Given the description of an element on the screen output the (x, y) to click on. 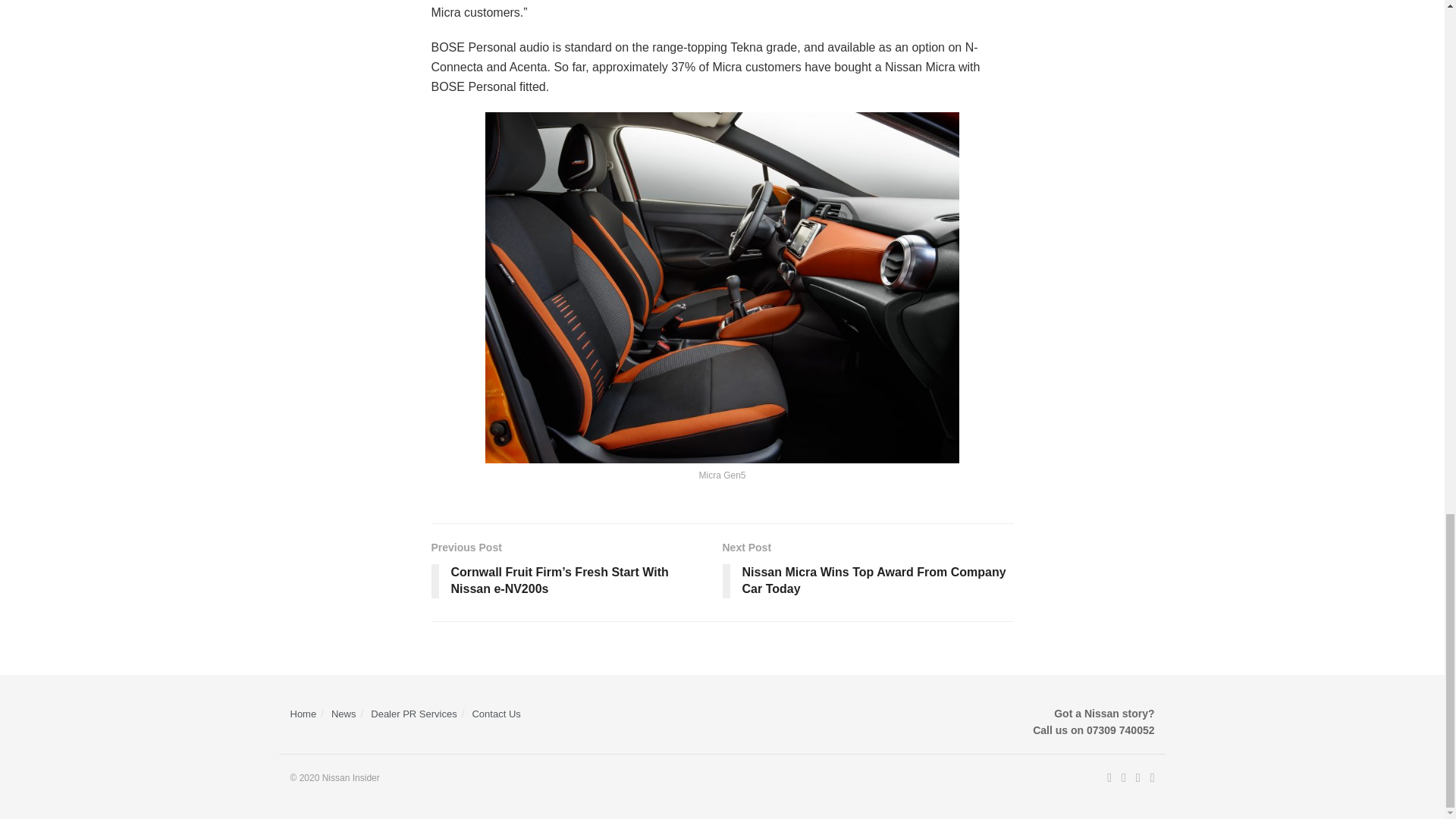
Home (302, 713)
News (343, 713)
Dealer PR Services (867, 571)
Contact Us (414, 713)
